Given the description of an element on the screen output the (x, y) to click on. 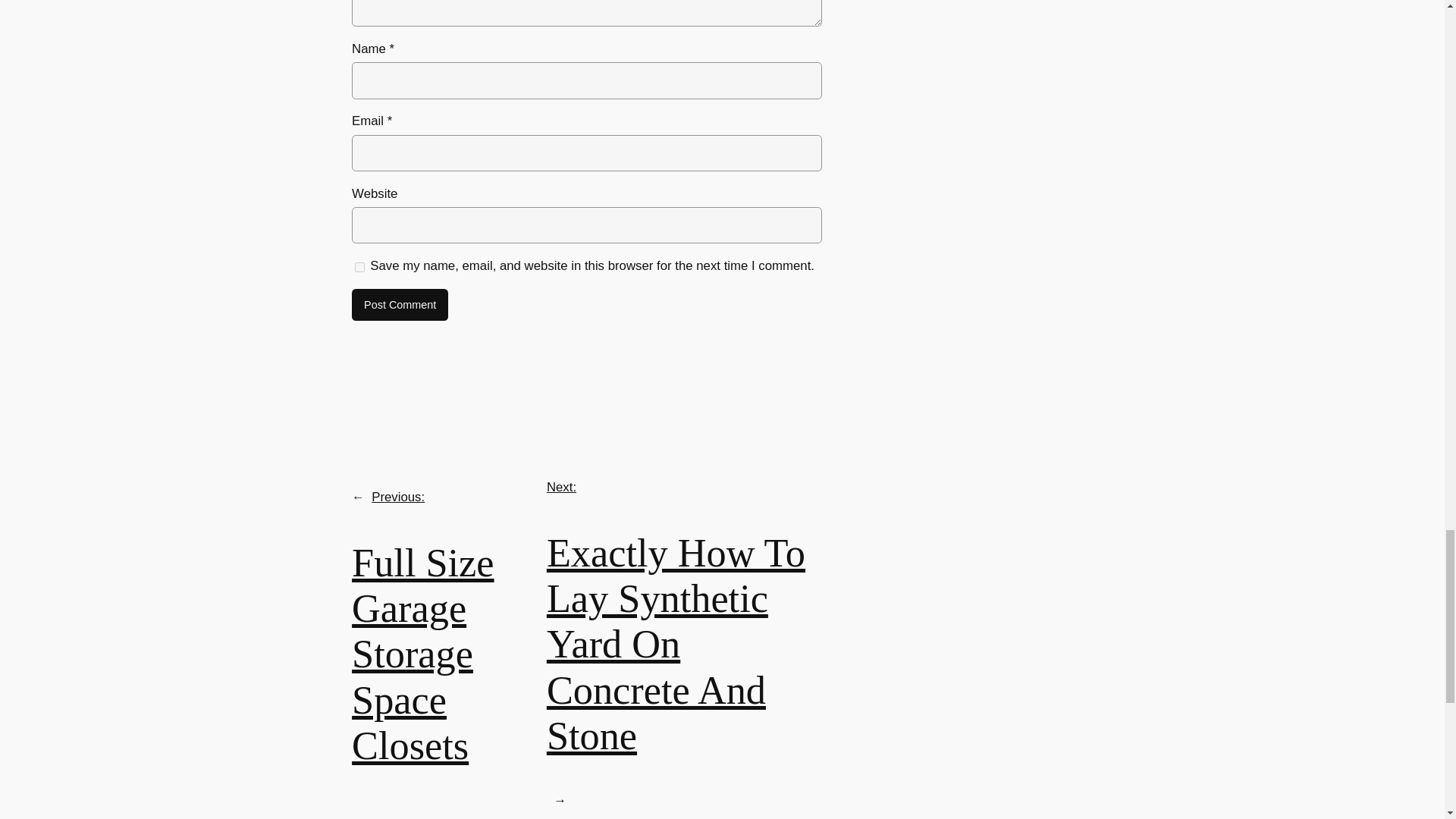
Post Comment (400, 305)
Post Comment (400, 305)
